Given the description of an element on the screen output the (x, y) to click on. 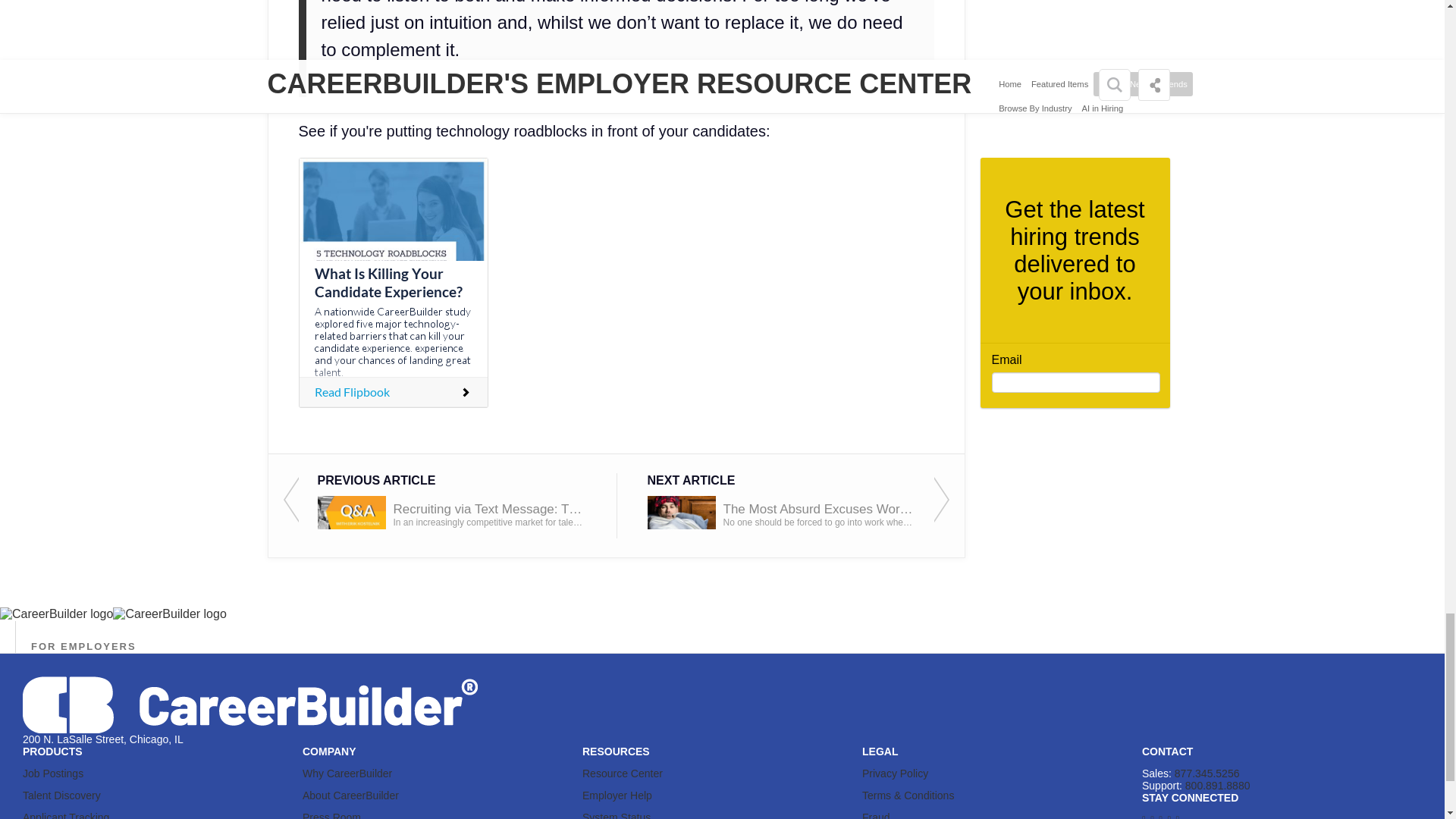
What Is Killing Your Candidate Experience? (392, 281)
